Given the description of an element on the screen output the (x, y) to click on. 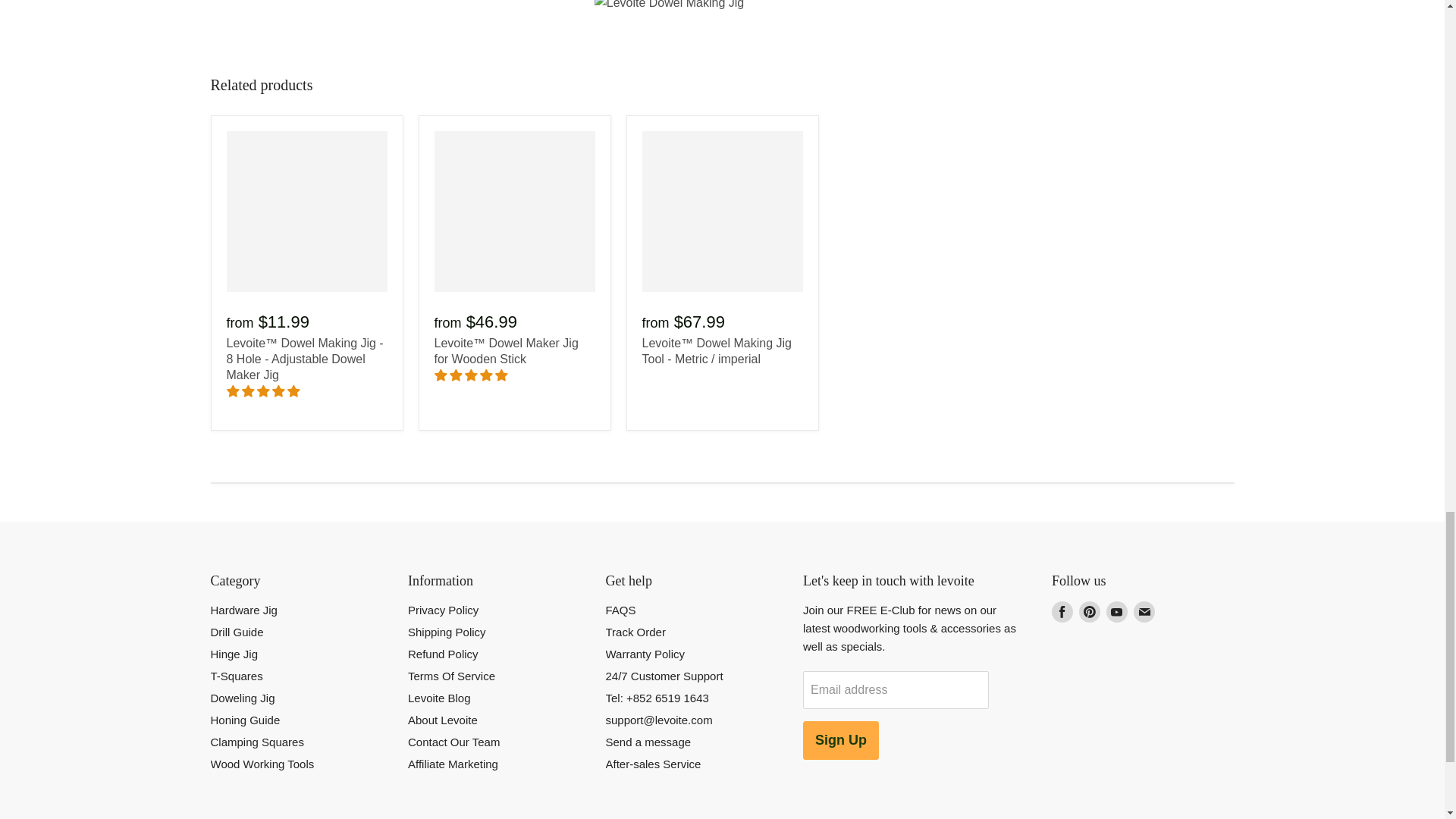
Pinterest (1089, 611)
Youtube (1117, 611)
E-mail (1144, 611)
Facebook (1061, 611)
